Given the description of an element on the screen output the (x, y) to click on. 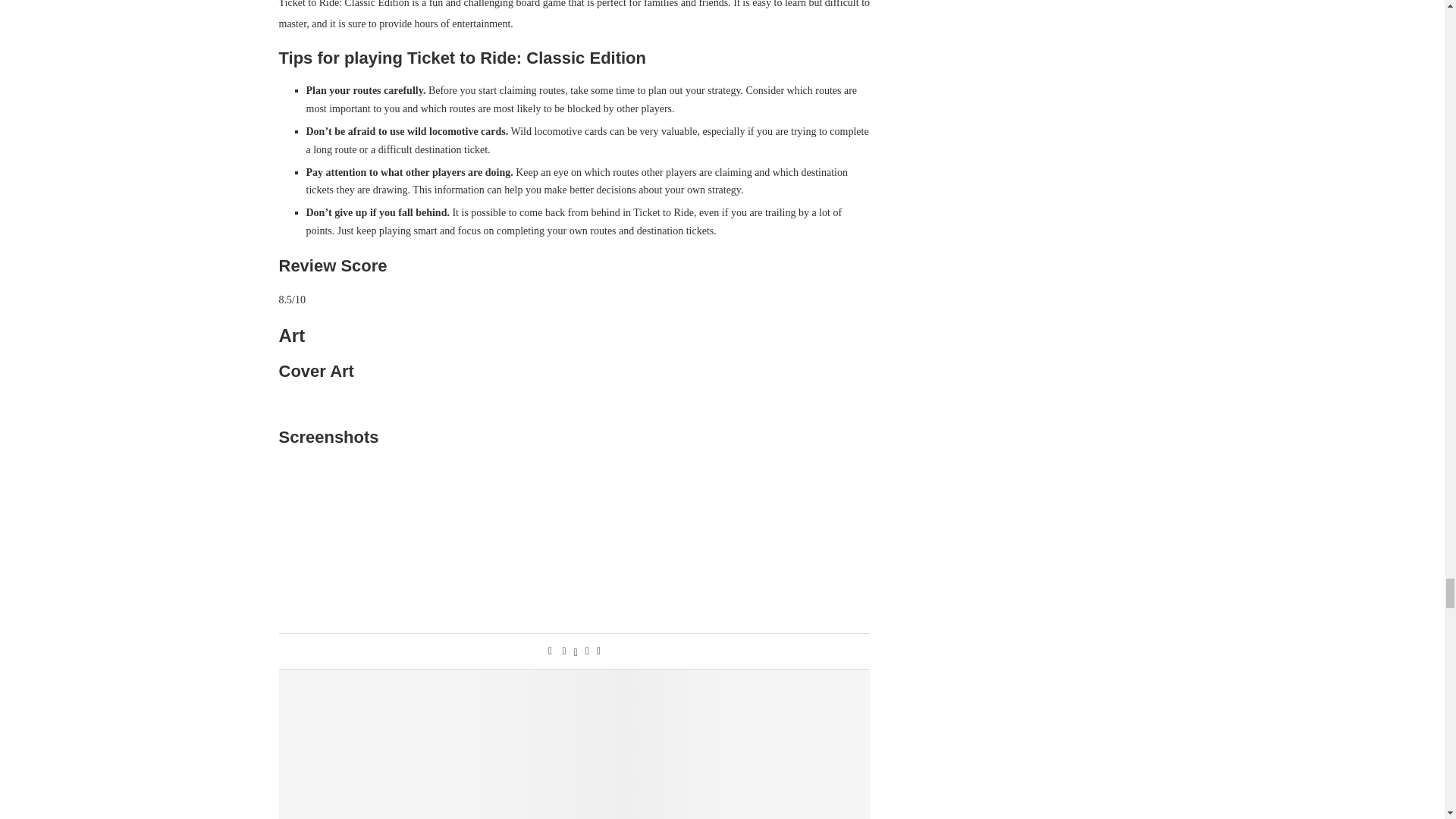
Cover: Spider-Man: Friend or Foe (574, 744)
Like (549, 651)
